Given the description of an element on the screen output the (x, y) to click on. 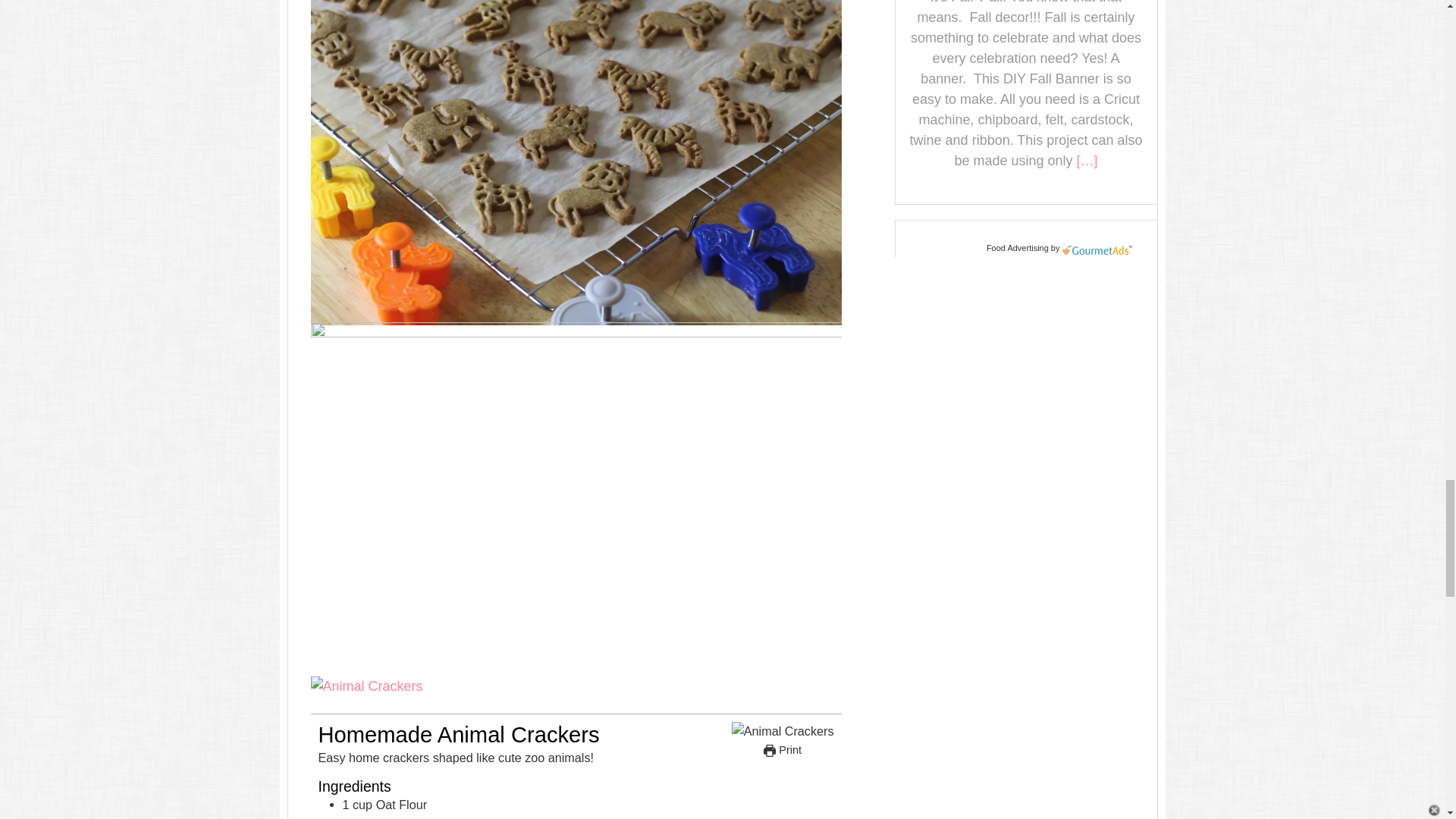
Food Advertising (1017, 247)
Print (782, 749)
